Given the description of an element on the screen output the (x, y) to click on. 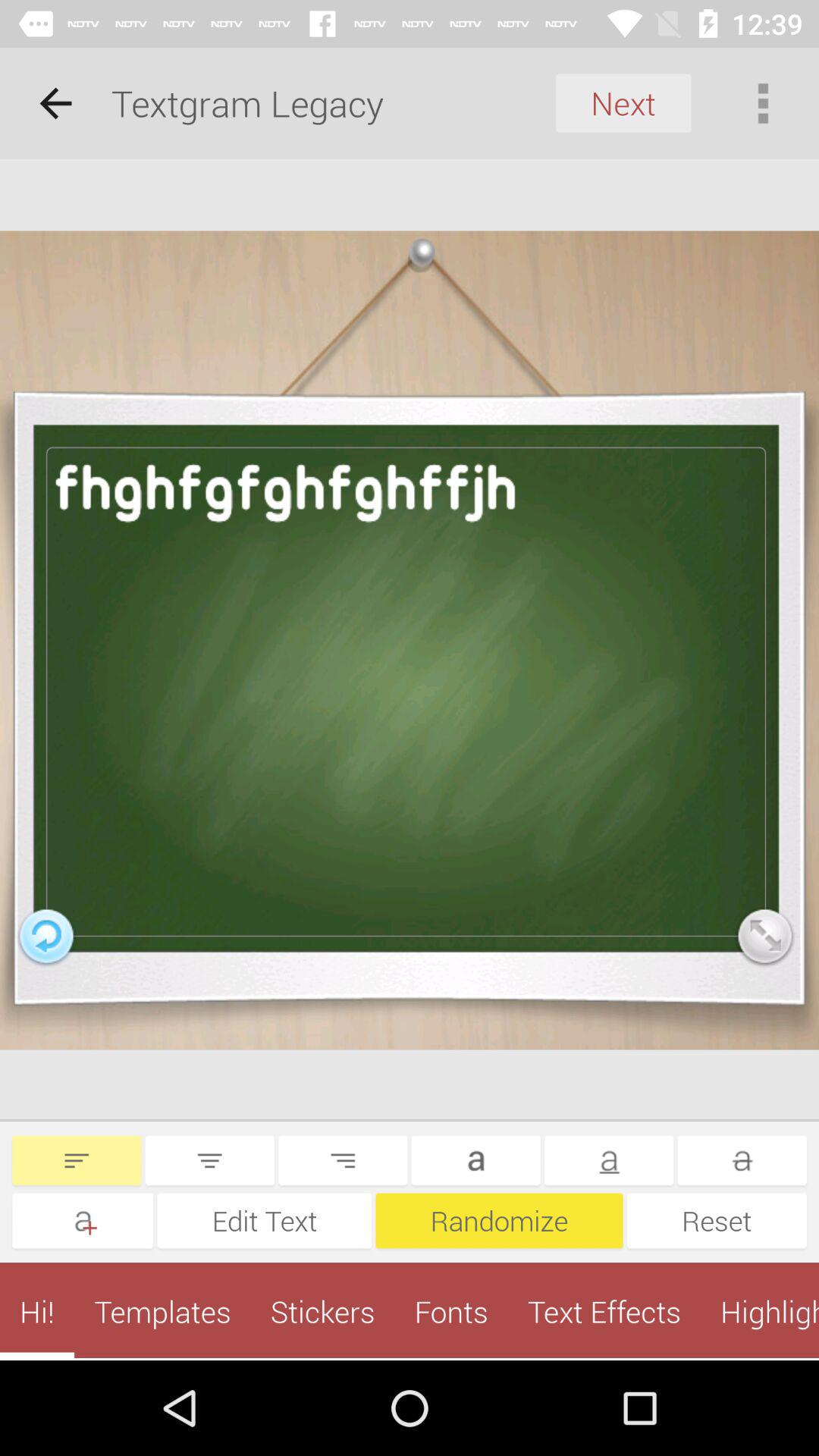
select stickers app (322, 1311)
